Given the description of an element on the screen output the (x, y) to click on. 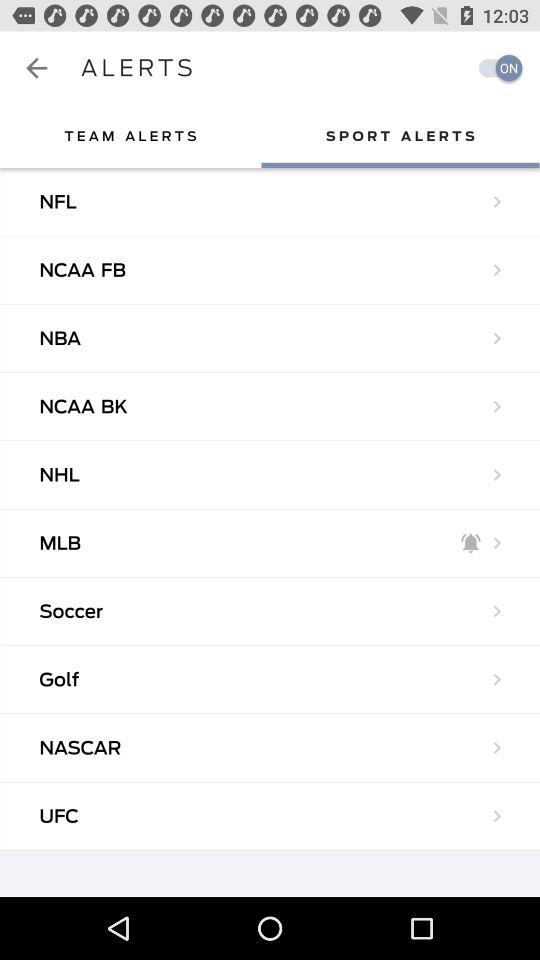
click on switch over button (495, 67)
the arrow shown to the right of nhl (496, 474)
click on the button which is next to ncaa fb (496, 270)
select the arrow beside ufc in the bottom right of the web page (496, 815)
